Given the description of an element on the screen output the (x, y) to click on. 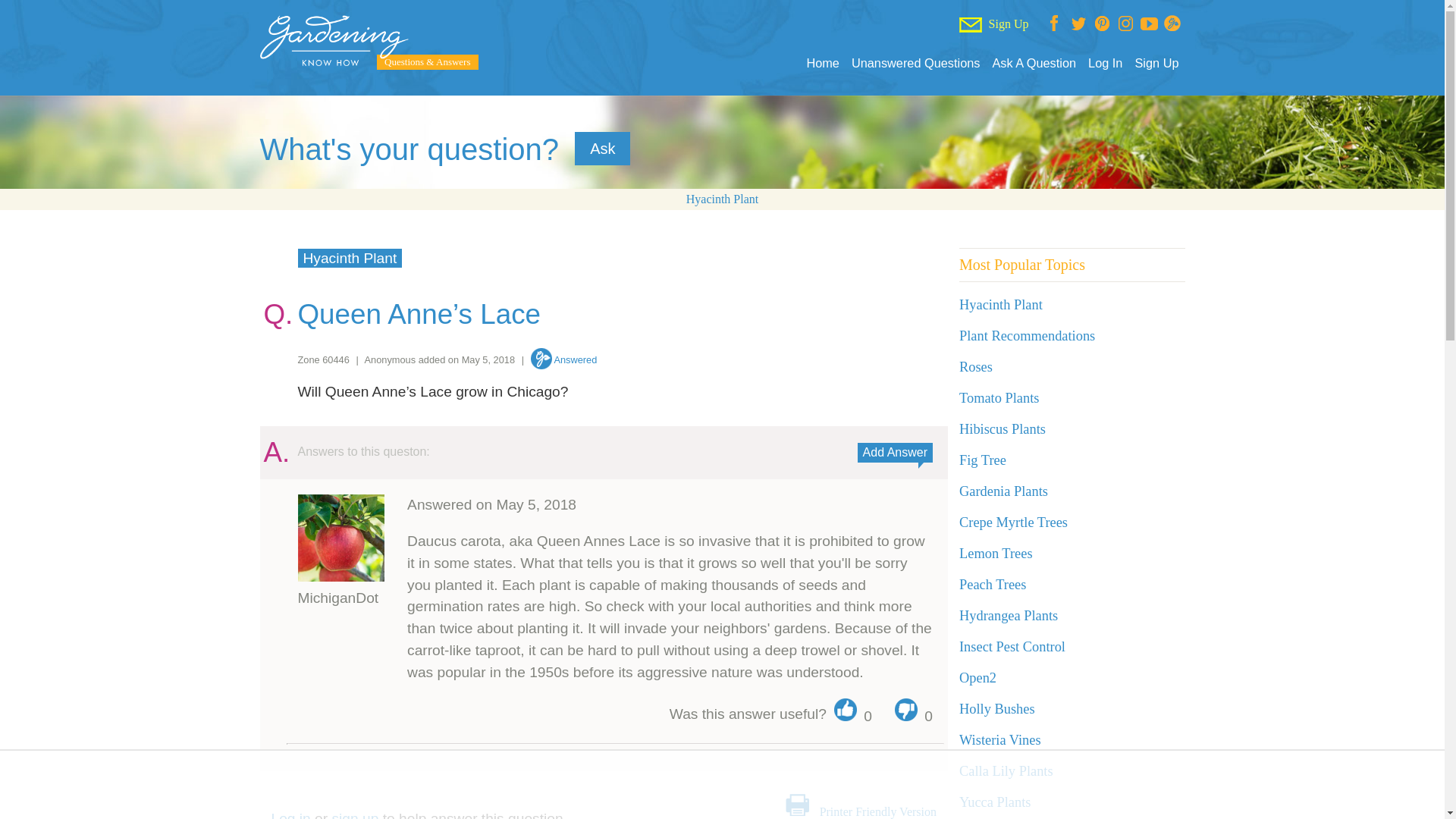
Home (822, 62)
Printer Friendly Version (877, 811)
Crepe Myrtle Trees (1013, 522)
Gardenia Plants (1003, 491)
Gardenia Plants (1003, 491)
Hyacinth Plant (1000, 304)
Ask A Question (1033, 62)
Ask (602, 148)
Lemon Trees (995, 553)
Hyacinth Plant (349, 257)
